Given the description of an element on the screen output the (x, y) to click on. 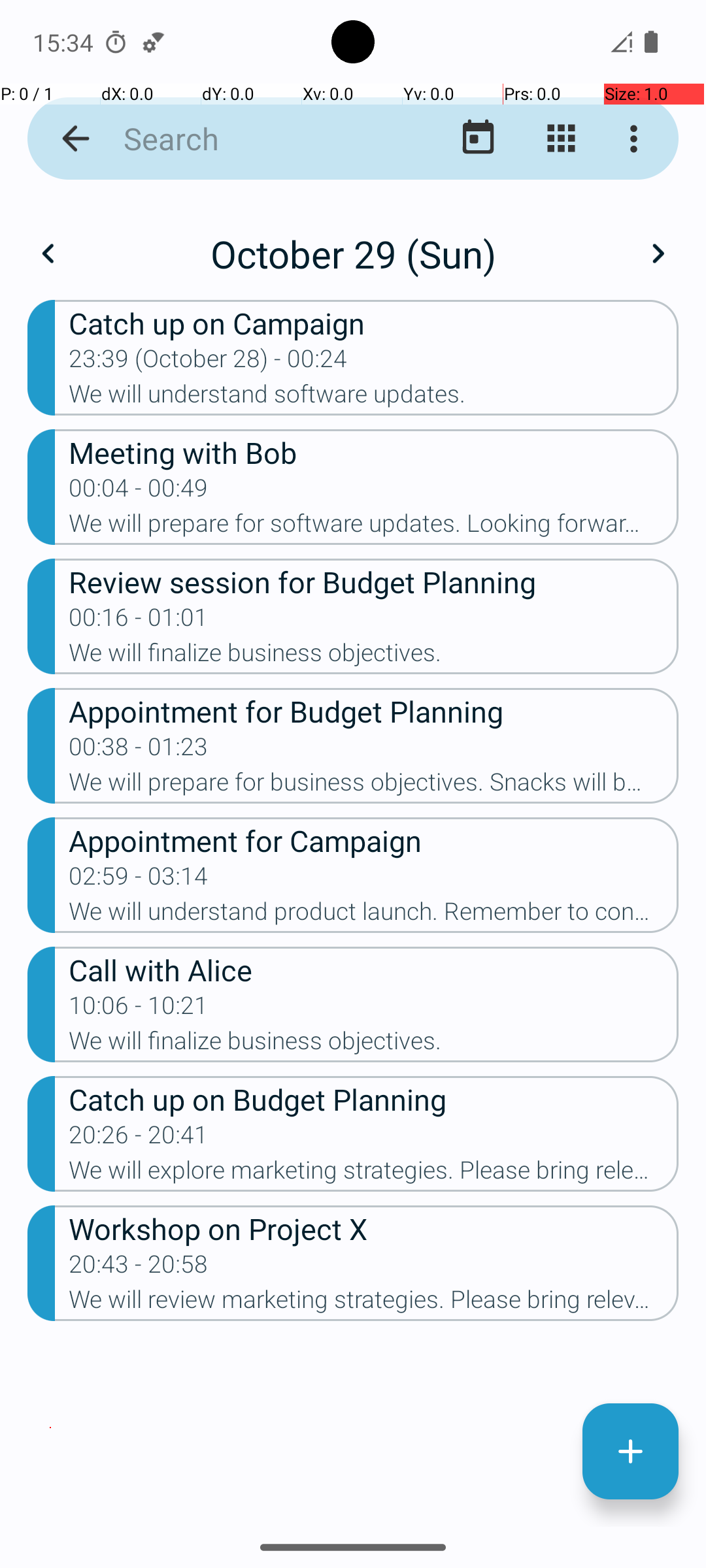
October 29 (Sun) Element type: android.widget.TextView (352, 253)
23:39 (October 28) - 00:24 Element type: android.widget.TextView (207, 362)
We will understand software updates. Element type: android.widget.TextView (373, 397)
00:04 - 00:49 Element type: android.widget.TextView (137, 491)
We will prepare for software updates. Looking forward to productive discussions. Element type: android.widget.TextView (373, 526)
00:16 - 01:01 Element type: android.widget.TextView (137, 620)
We will finalize business objectives. Element type: android.widget.TextView (373, 656)
00:38 - 01:23 Element type: android.widget.TextView (137, 750)
We will prepare for business objectives. Snacks will be provided. Element type: android.widget.TextView (373, 785)
02:59 - 03:14 Element type: android.widget.TextView (137, 879)
We will understand product launch. Remember to confirm attendance. Element type: android.widget.TextView (373, 914)
10:06 - 10:21 Element type: android.widget.TextView (137, 1009)
20:26 - 20:41 Element type: android.widget.TextView (137, 1138)
We will explore marketing strategies. Please bring relevant documents. Element type: android.widget.TextView (373, 1173)
20:43 - 20:58 Element type: android.widget.TextView (137, 1267)
We will review marketing strategies. Please bring relevant documents. Element type: android.widget.TextView (373, 1303)
No phone. Element type: android.widget.FrameLayout (621, 41)
